Given the description of an element on the screen output the (x, y) to click on. 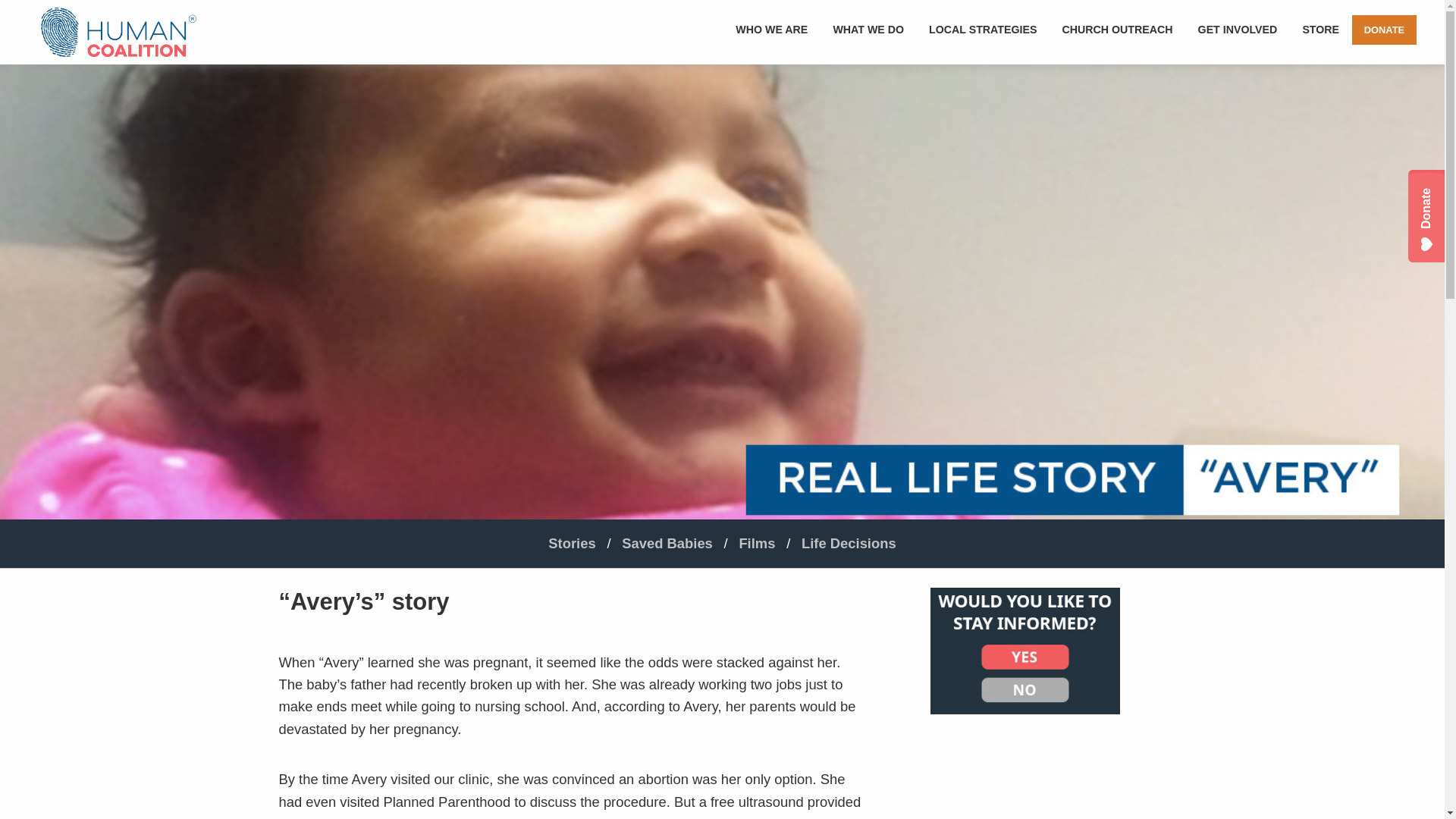
LOCAL STRATEGIES (983, 29)
DONATE (1384, 30)
CHURCH OUTREACH (1117, 29)
Stories (571, 543)
Films (756, 543)
Life Decisions (849, 543)
STORE (1321, 29)
WHAT WE DO (869, 29)
Saved Babies (667, 543)
GET INVOLVED (1237, 29)
WHO WE ARE (772, 29)
